Given the description of an element on the screen output the (x, y) to click on. 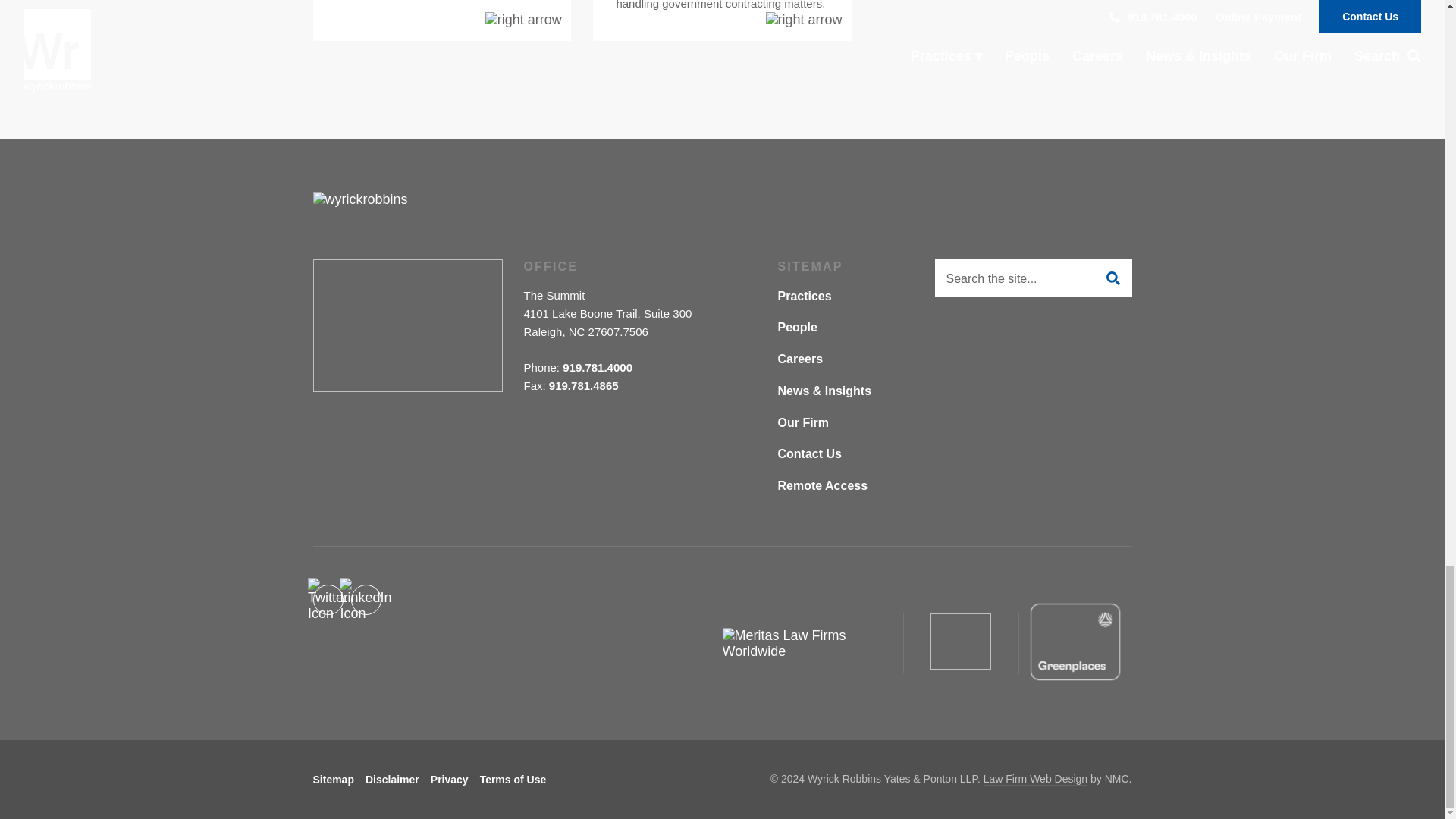
Greenplace (1074, 641)
